Given the description of an element on the screen output the (x, y) to click on. 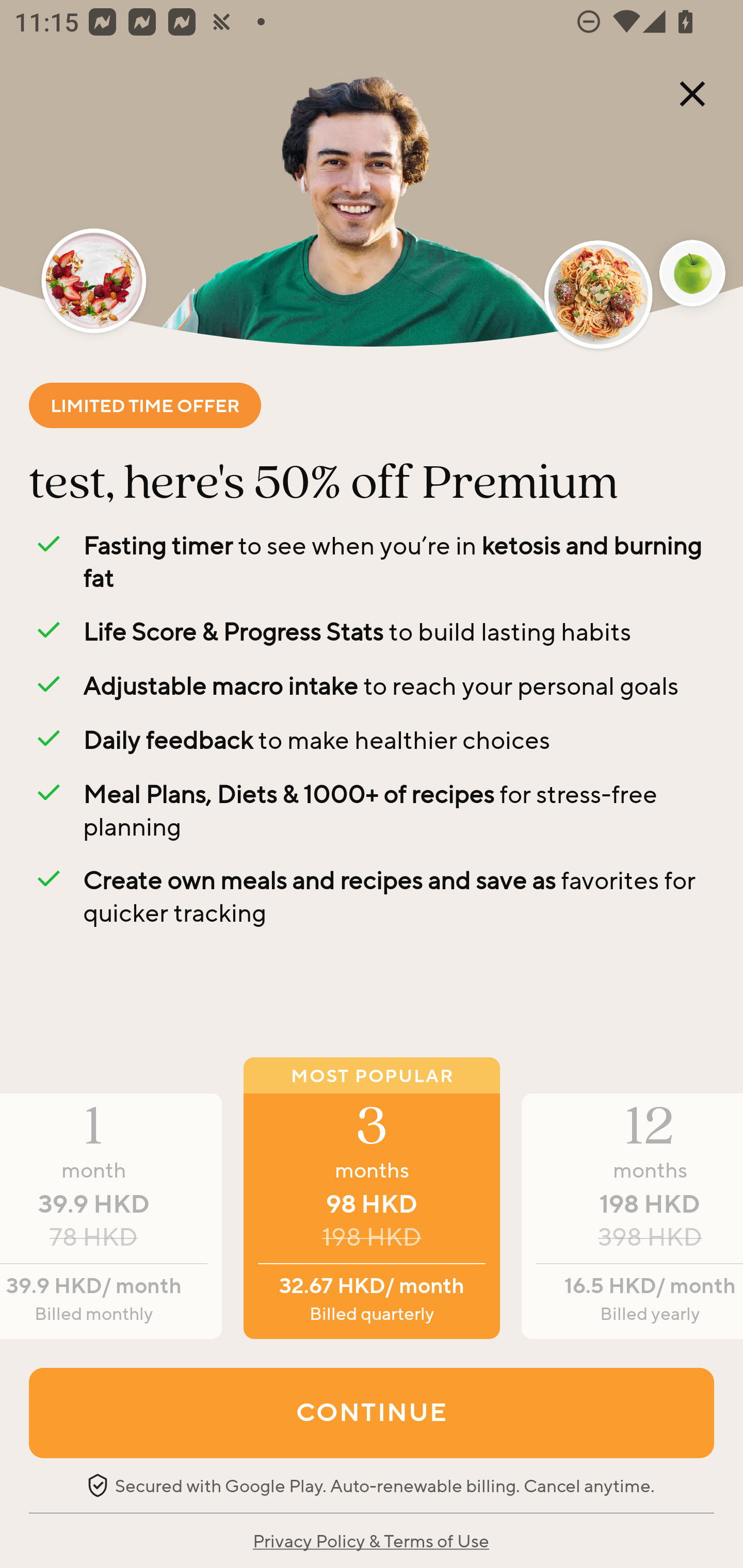
CONTINUE (371, 1412)
Privacy Policy & Terms of Use (370, 1540)
